Given the description of an element on the screen output the (x, y) to click on. 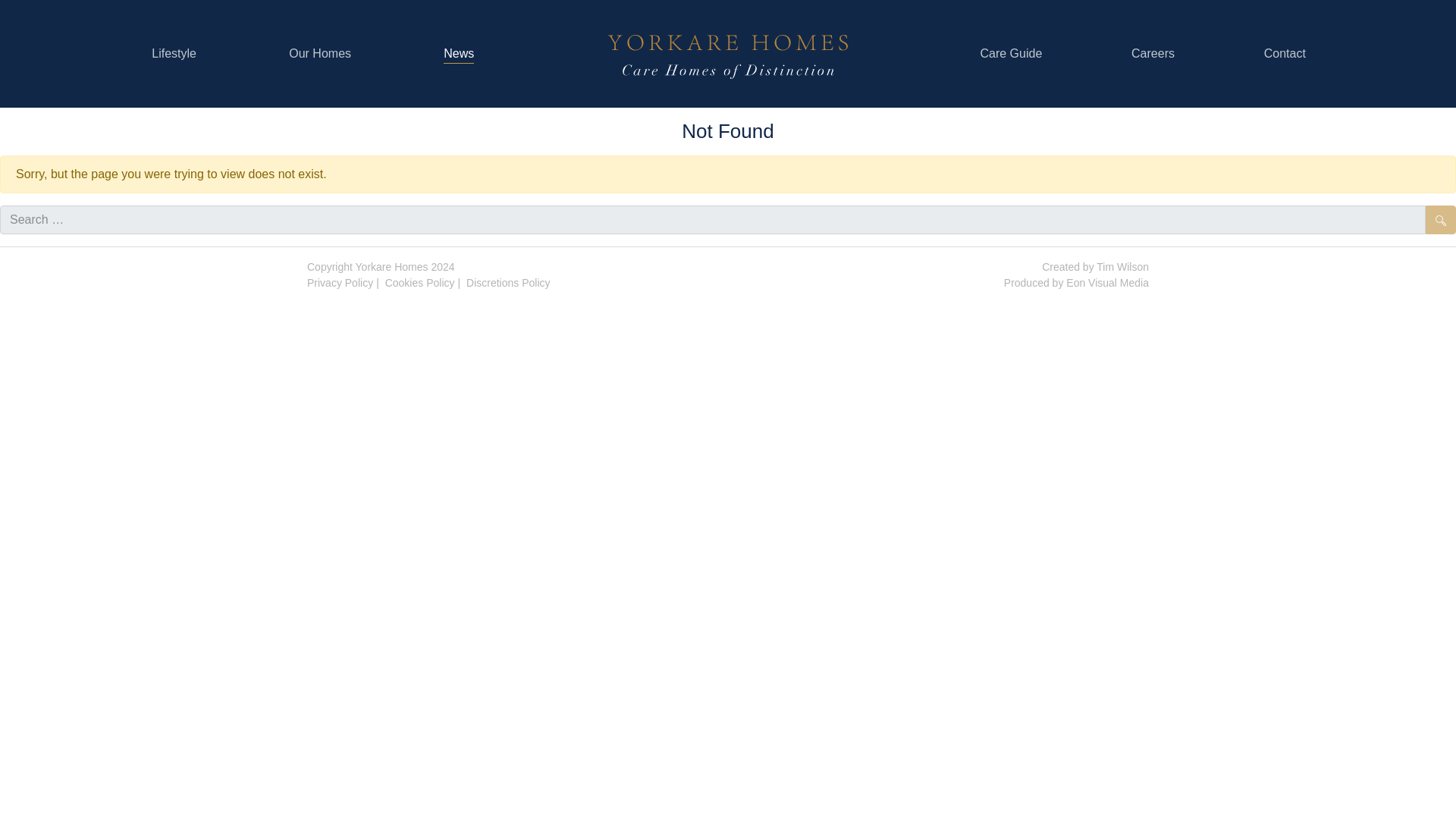
Privacy Policy (339, 282)
News (459, 53)
Lifestyle (173, 53)
Cookies Policy (419, 282)
Our Homes (319, 53)
Discretions Policy (507, 282)
Careers (1152, 53)
Care Guide (1011, 53)
Contact (1284, 53)
Eon Visual Media (1106, 282)
